Given the description of an element on the screen output the (x, y) to click on. 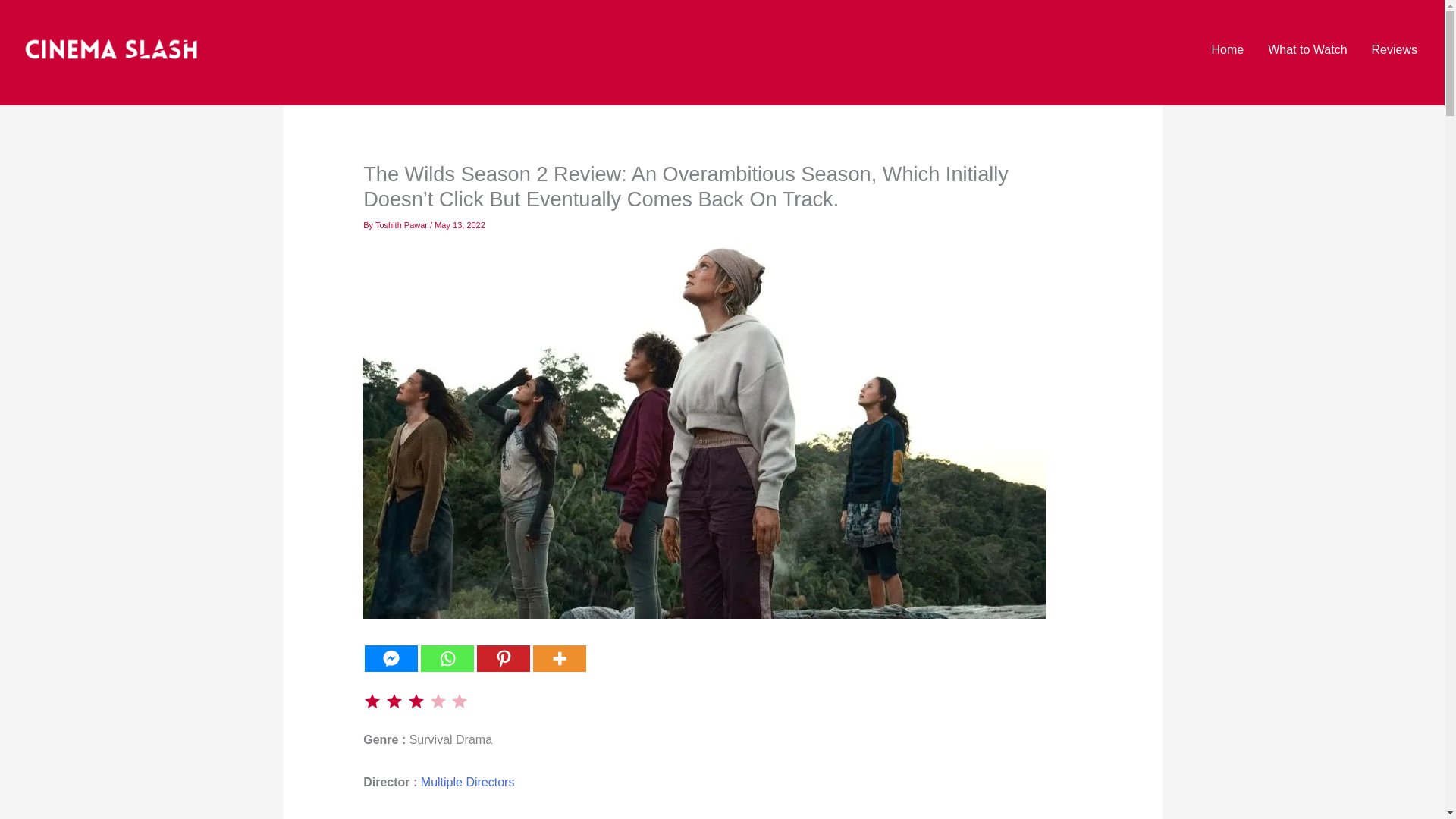
Reviews (1394, 49)
Amazon Prime (462, 818)
Toshith Pawar (402, 225)
Pinterest (503, 658)
Whatsapp (447, 658)
Home (1227, 49)
More (559, 658)
View all posts by Toshith Pawar (402, 225)
What to Watch (1306, 49)
Multiple Directors (467, 781)
